Given the description of an element on the screen output the (x, y) to click on. 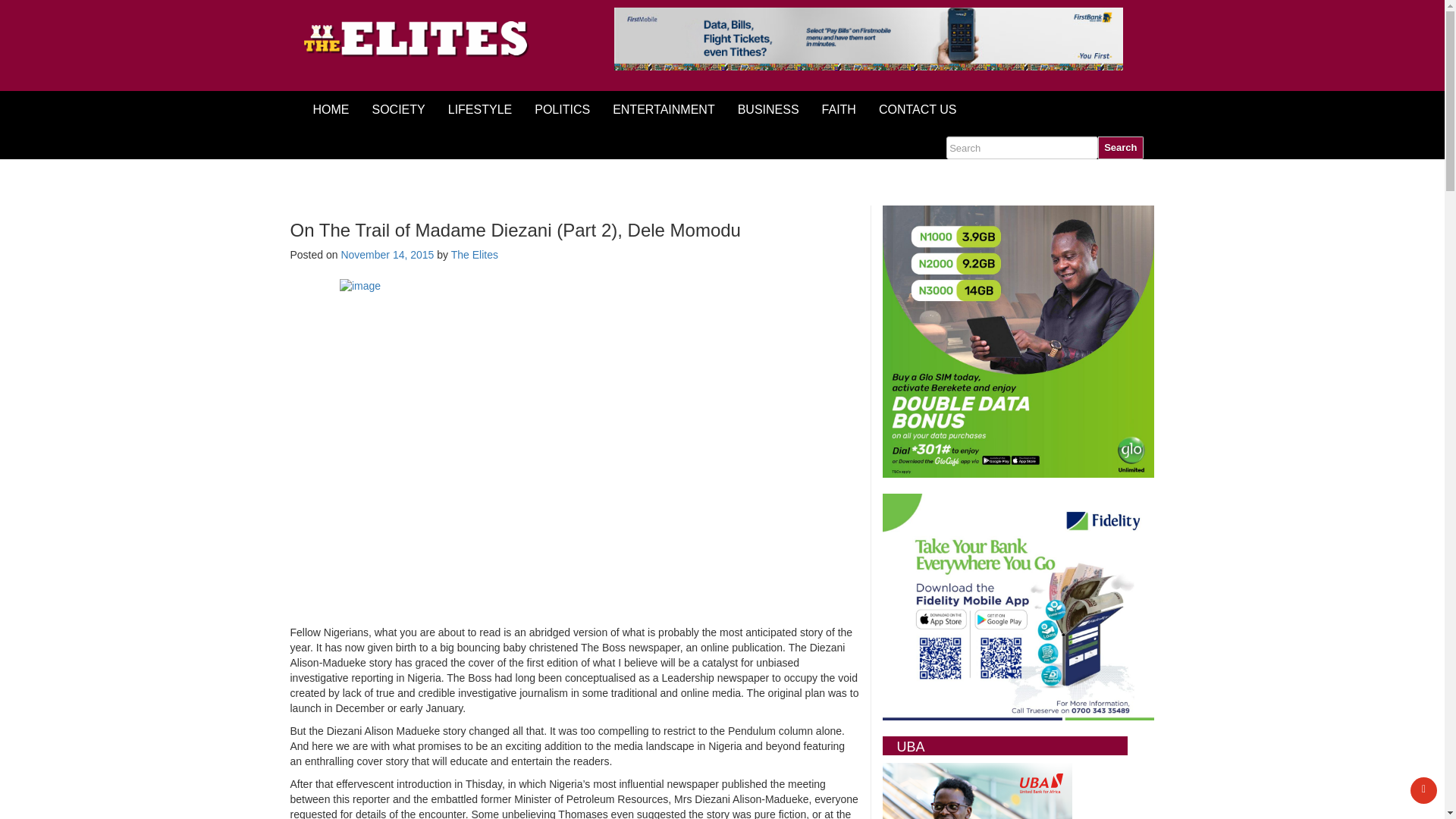
BUSINESS (768, 109)
POLITICS (561, 109)
Search (1119, 147)
CONTACT US (917, 109)
FAITH (838, 109)
November 14, 2015 (386, 254)
SOCIETY (398, 109)
HOME (331, 109)
The Elites (474, 254)
ENTERTAINMENT (663, 109)
